Given the description of an element on the screen output the (x, y) to click on. 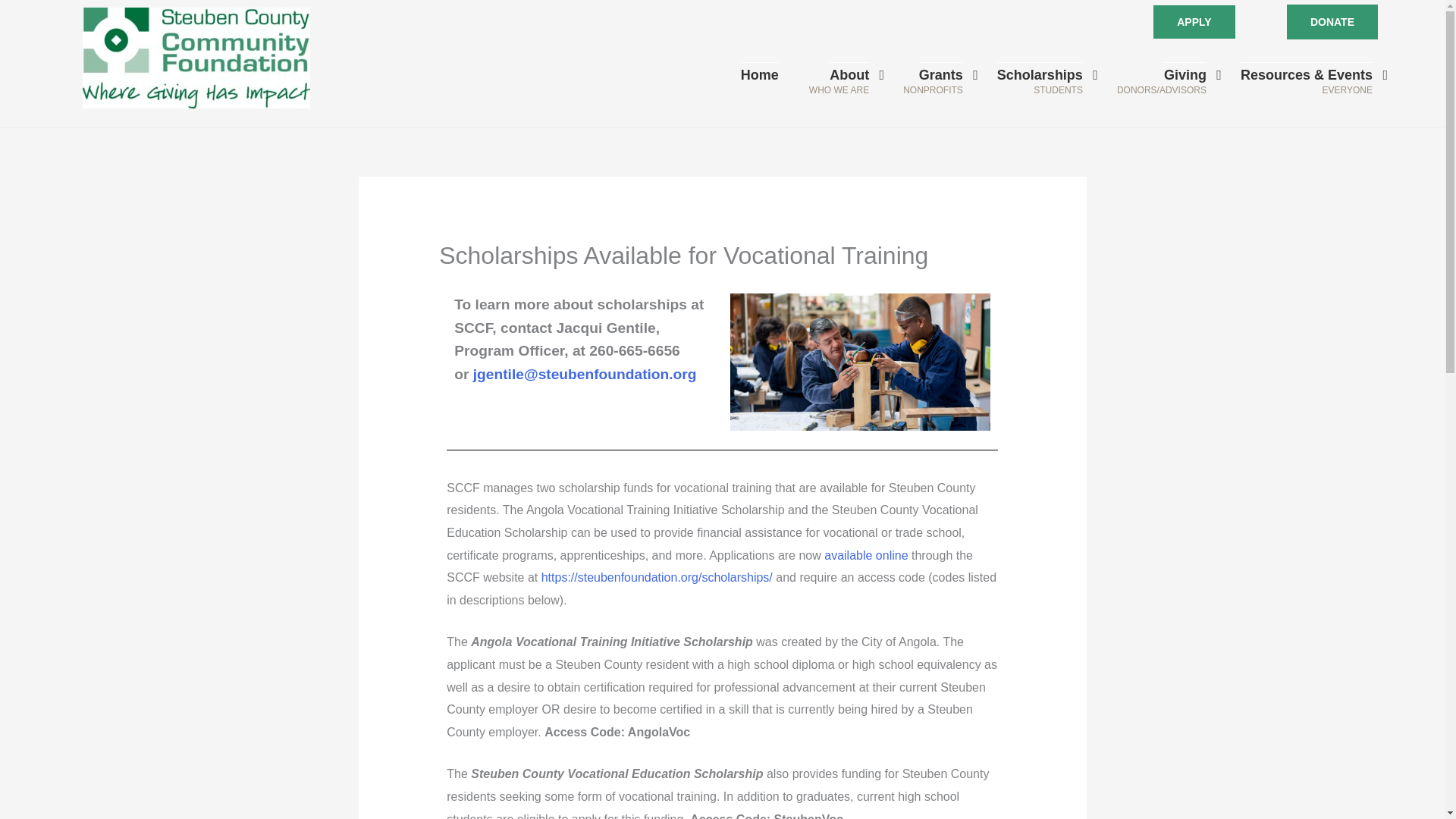
DONATE (1332, 21)
APPLY (1193, 21)
